Given the description of an element on the screen output the (x, y) to click on. 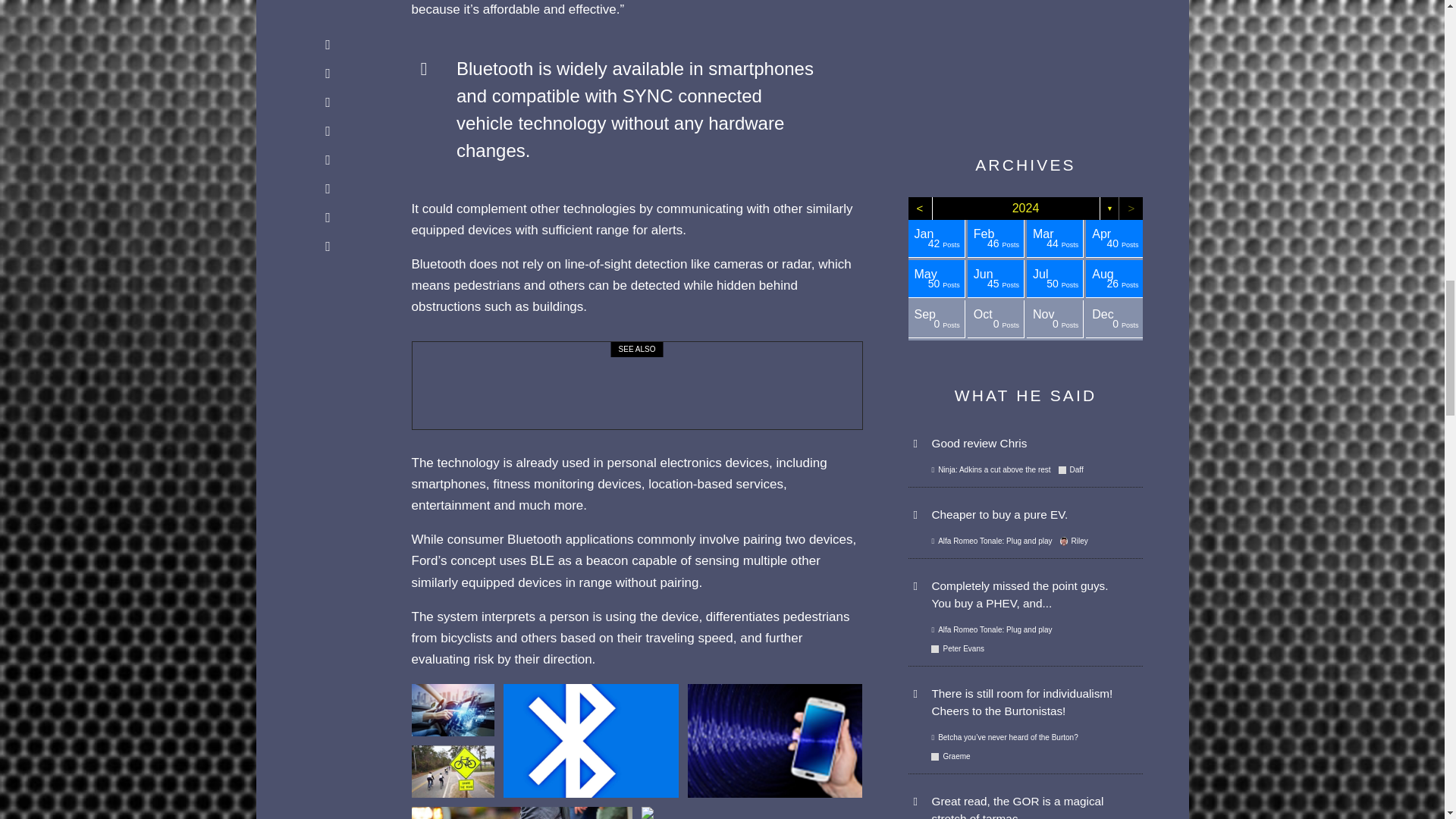
Bluetooth warnings 9 (451, 709)
Bluetooth warnings 11 (590, 740)
Bluetooth warnings 10 (451, 771)
